Given the description of an element on the screen output the (x, y) to click on. 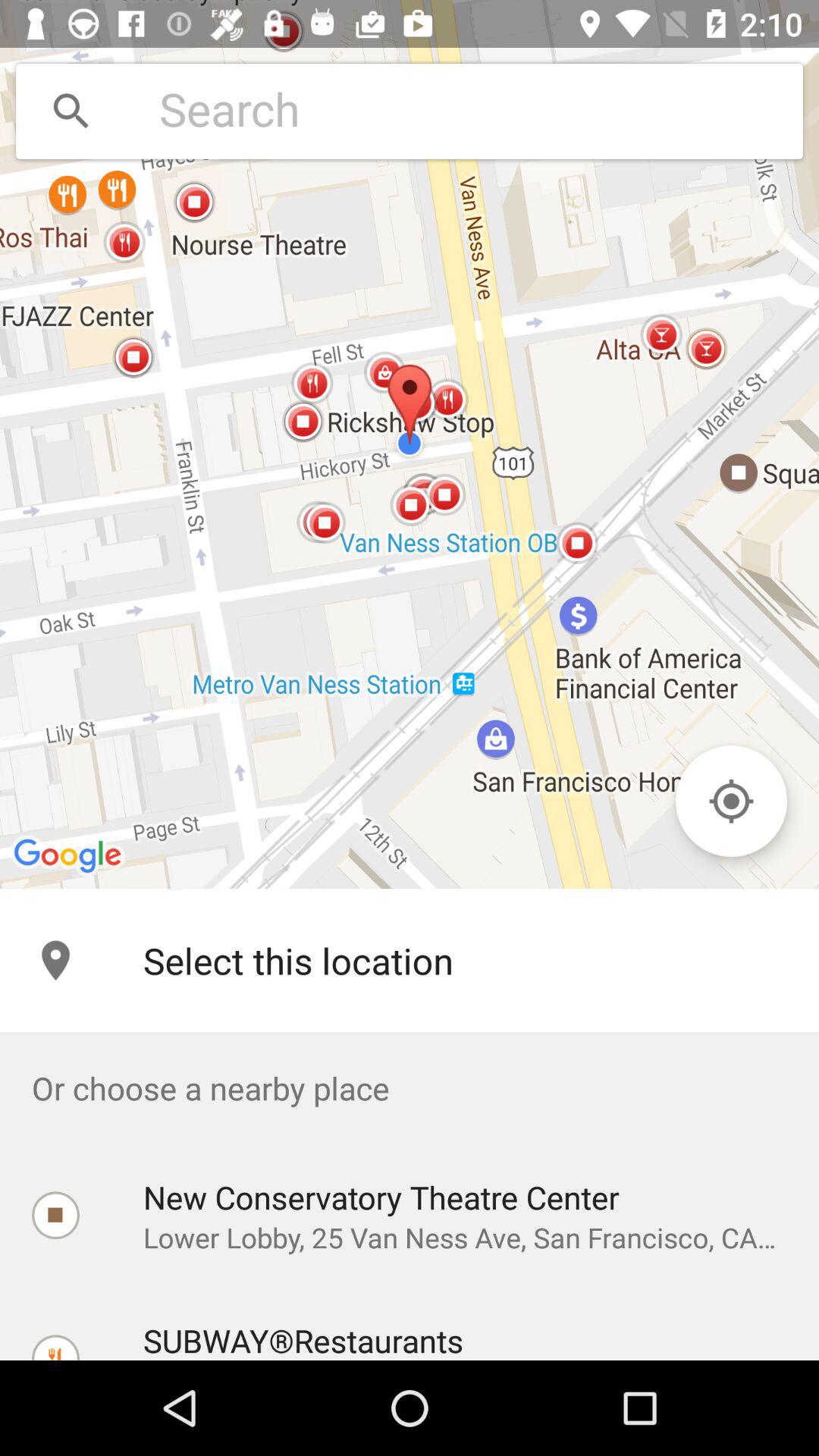
select the icon above the select this location (409, 444)
